Given the description of an element on the screen output the (x, y) to click on. 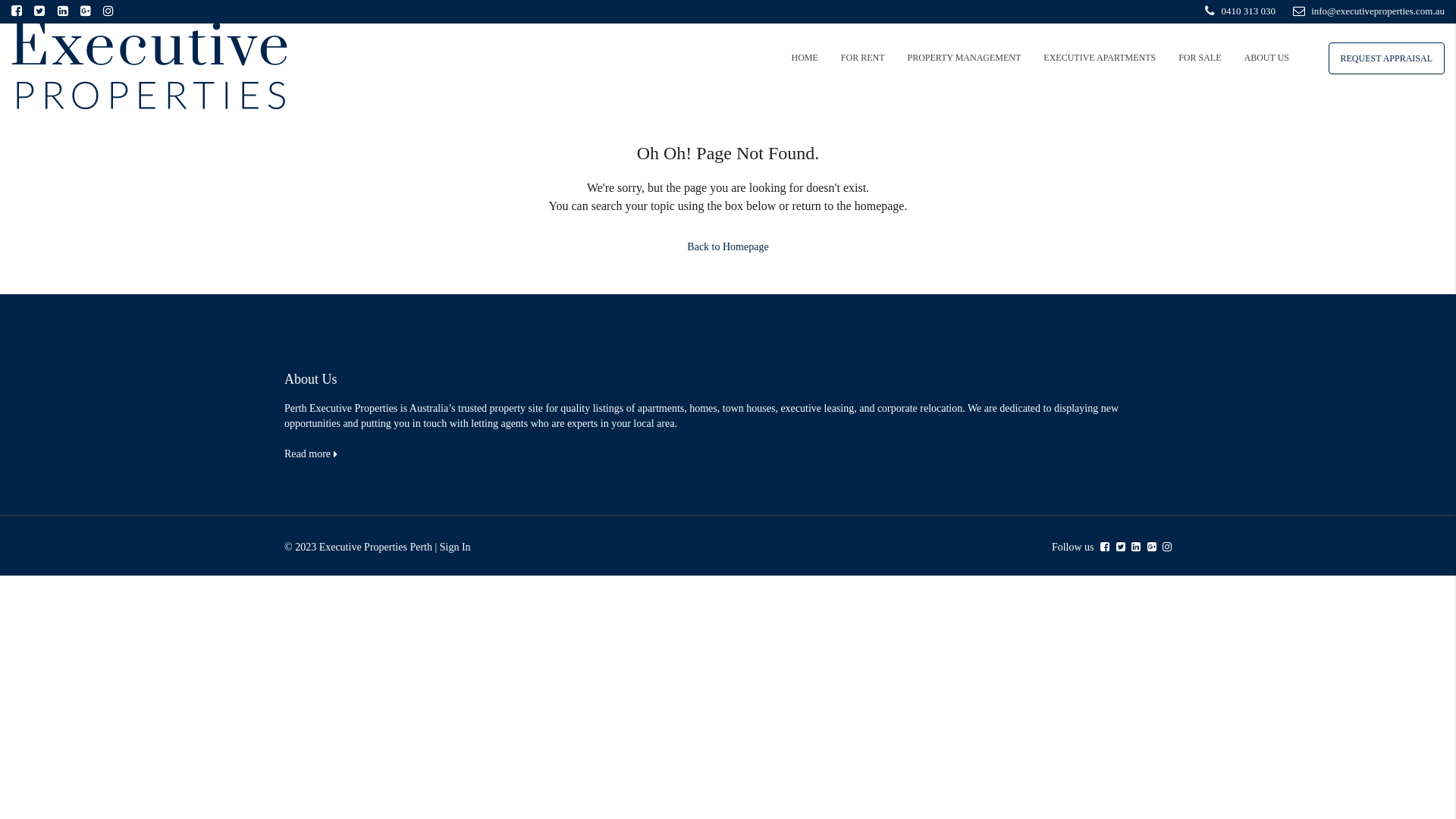
0410 313 030 Element type: text (1239, 10)
HOME Element type: text (803, 57)
FOR SALE Element type: text (1199, 57)
Back to Homepage Element type: text (727, 246)
info@executiveproperties.com.au Element type: text (1368, 10)
ABOUT US Element type: text (1266, 57)
FOR RENT Element type: text (862, 57)
EXECUTIVE APARTMENTS Element type: text (1099, 57)
REQUEST APPRAISAL Element type: text (1386, 58)
PROPERTY MANAGEMENT Element type: text (964, 57)
Read more Element type: text (310, 453)
Sign In Element type: text (454, 546)
